Given the description of an element on the screen output the (x, y) to click on. 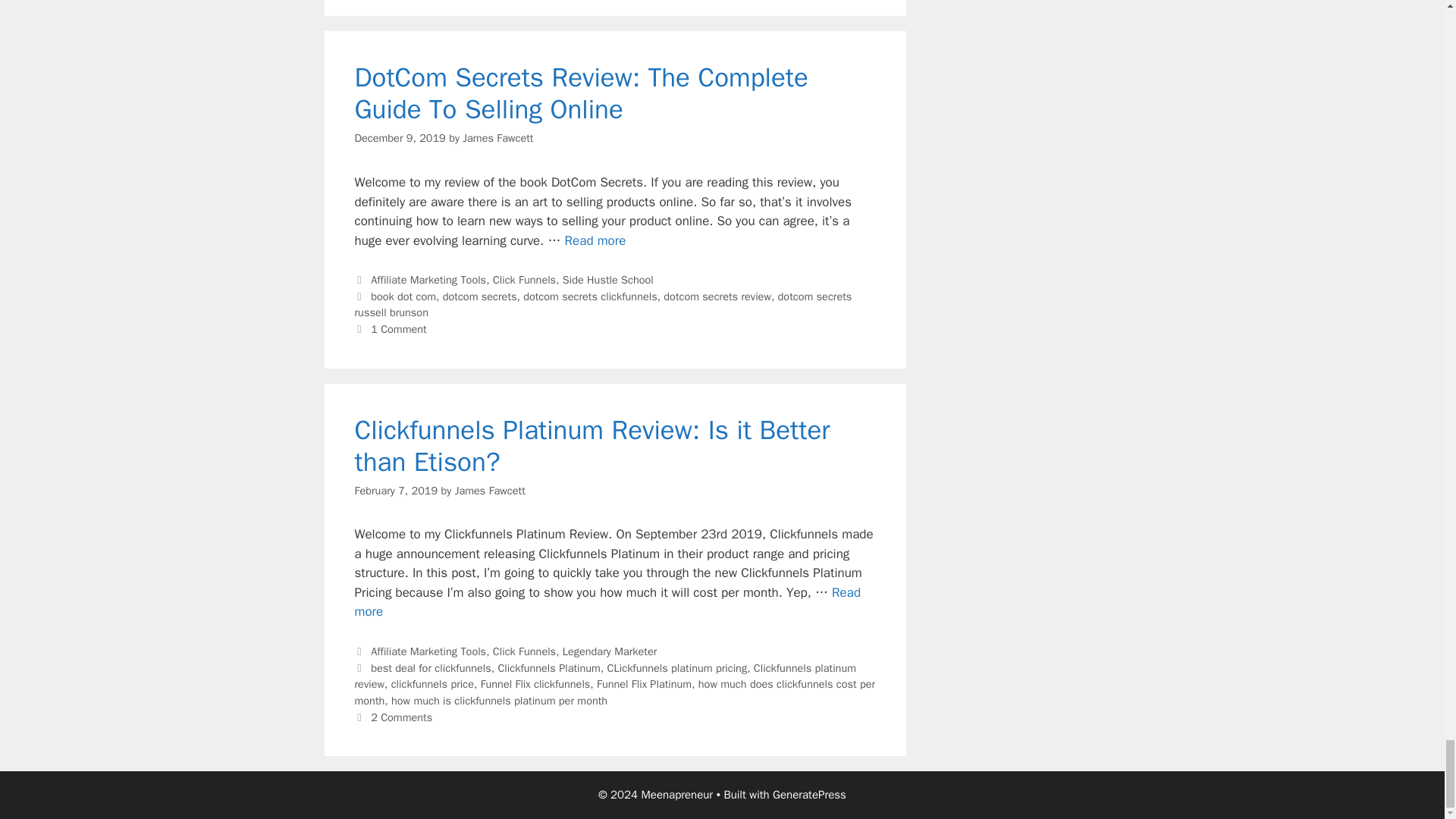
View all posts by James Fawcett (497, 137)
